Given the description of an element on the screen output the (x, y) to click on. 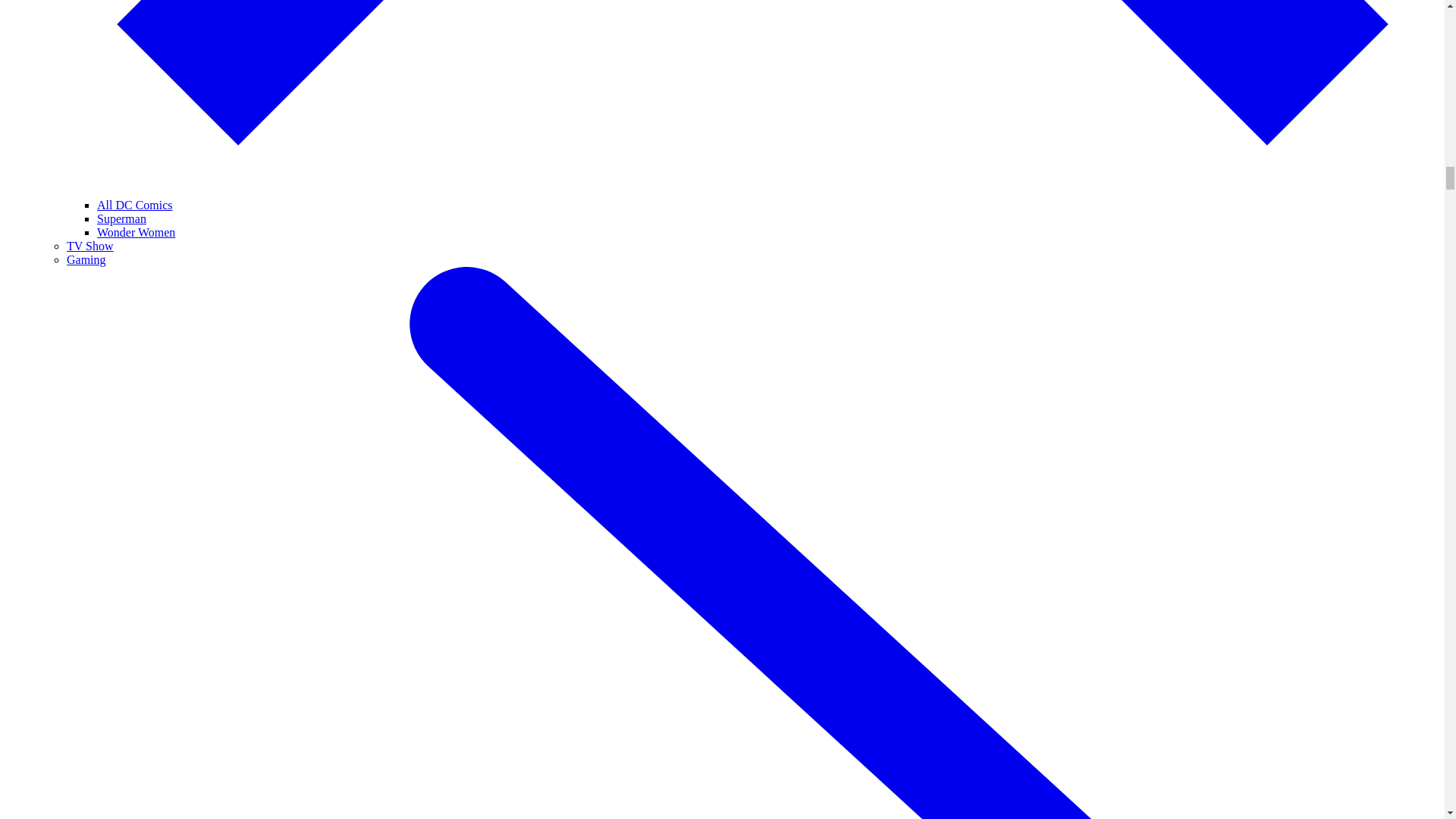
TV Show (89, 245)
Wonder Women (135, 232)
All DC Comics (135, 205)
Superman (122, 218)
